Given the description of an element on the screen output the (x, y) to click on. 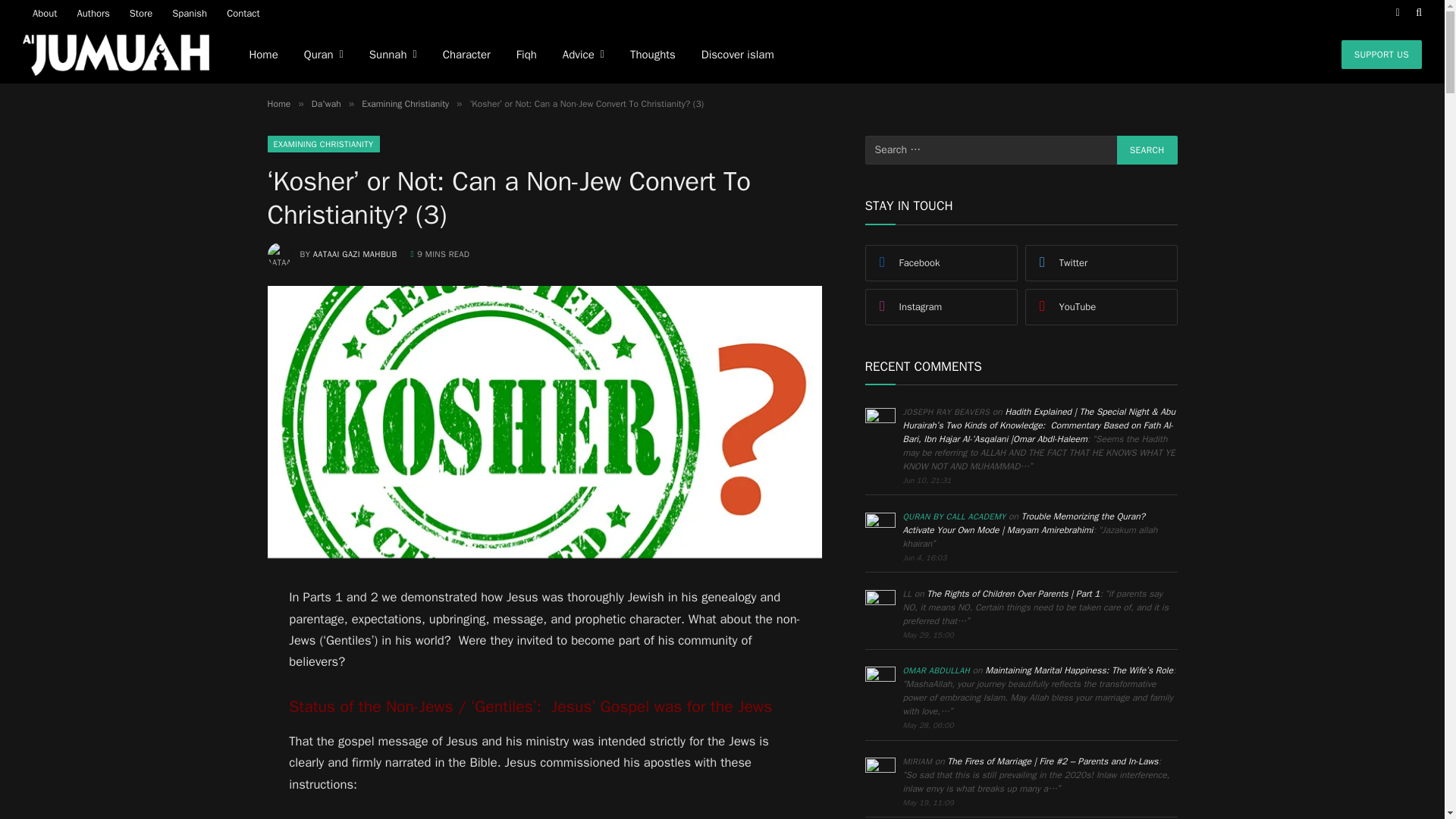
Discover islam (737, 54)
Posts by Aataai Gazi Mahbub (355, 253)
Switch to Light Design. (1397, 12)
Character (466, 54)
Da'wah (325, 103)
EXAMINING CHRISTIANITY (322, 143)
About (44, 12)
Thoughts (652, 54)
Spanish (188, 12)
Home (277, 103)
Store (140, 12)
AATAAI GAZI MAHBUB (355, 253)
Search (1146, 149)
Search (1146, 149)
Advice (583, 54)
